Given the description of an element on the screen output the (x, y) to click on. 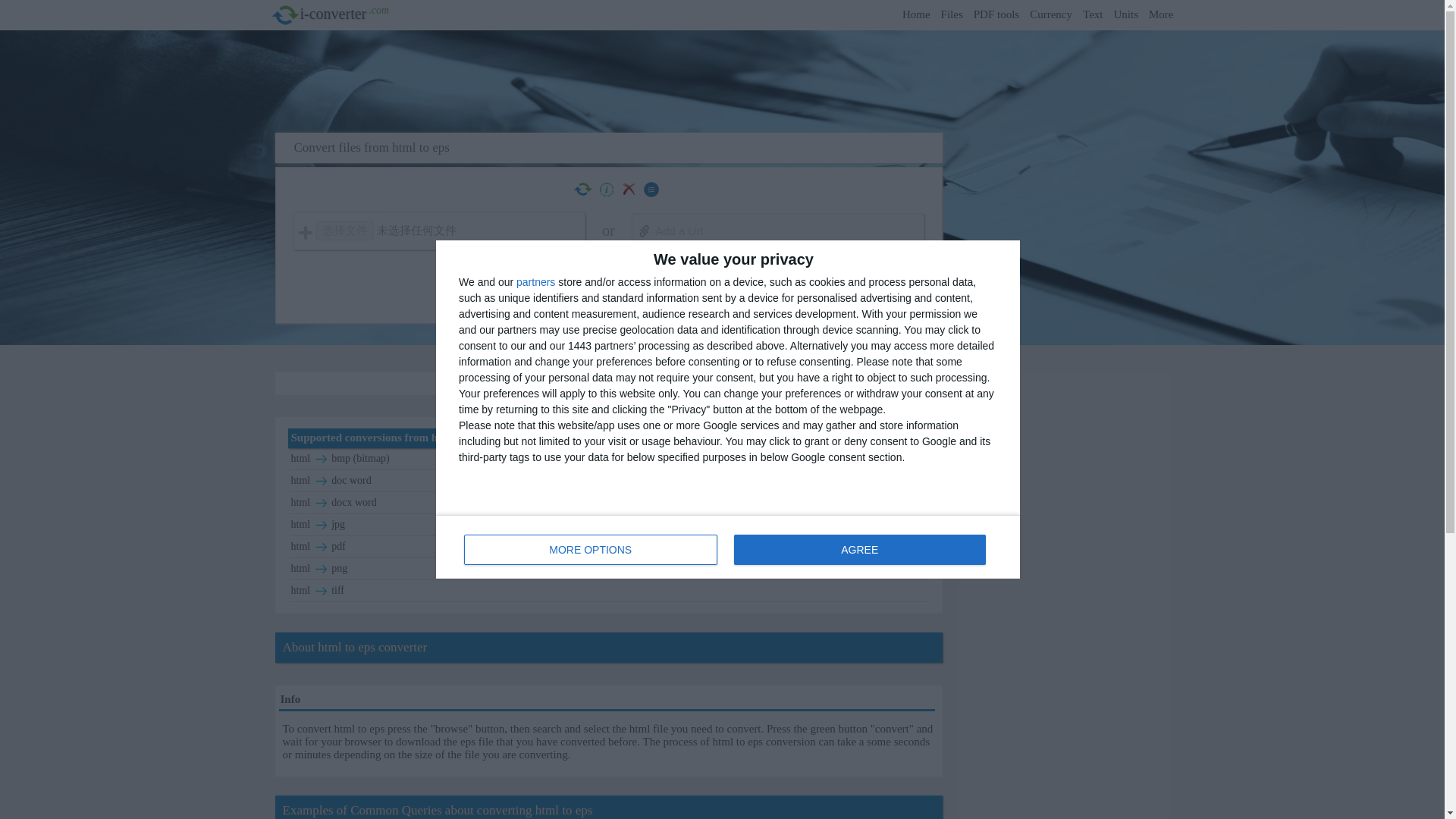
Clear (628, 188)
AGREE (859, 549)
html doc word (608, 480)
convert to (320, 502)
convert to (320, 459)
PDF tools (996, 14)
partners (535, 281)
MORE OPTIONS (590, 549)
i-converter.com (284, 15)
html docx word (608, 502)
Reverse (582, 189)
Info (605, 189)
Files (951, 14)
More (1160, 14)
Home (916, 14)
